Given the description of an element on the screen output the (x, y) to click on. 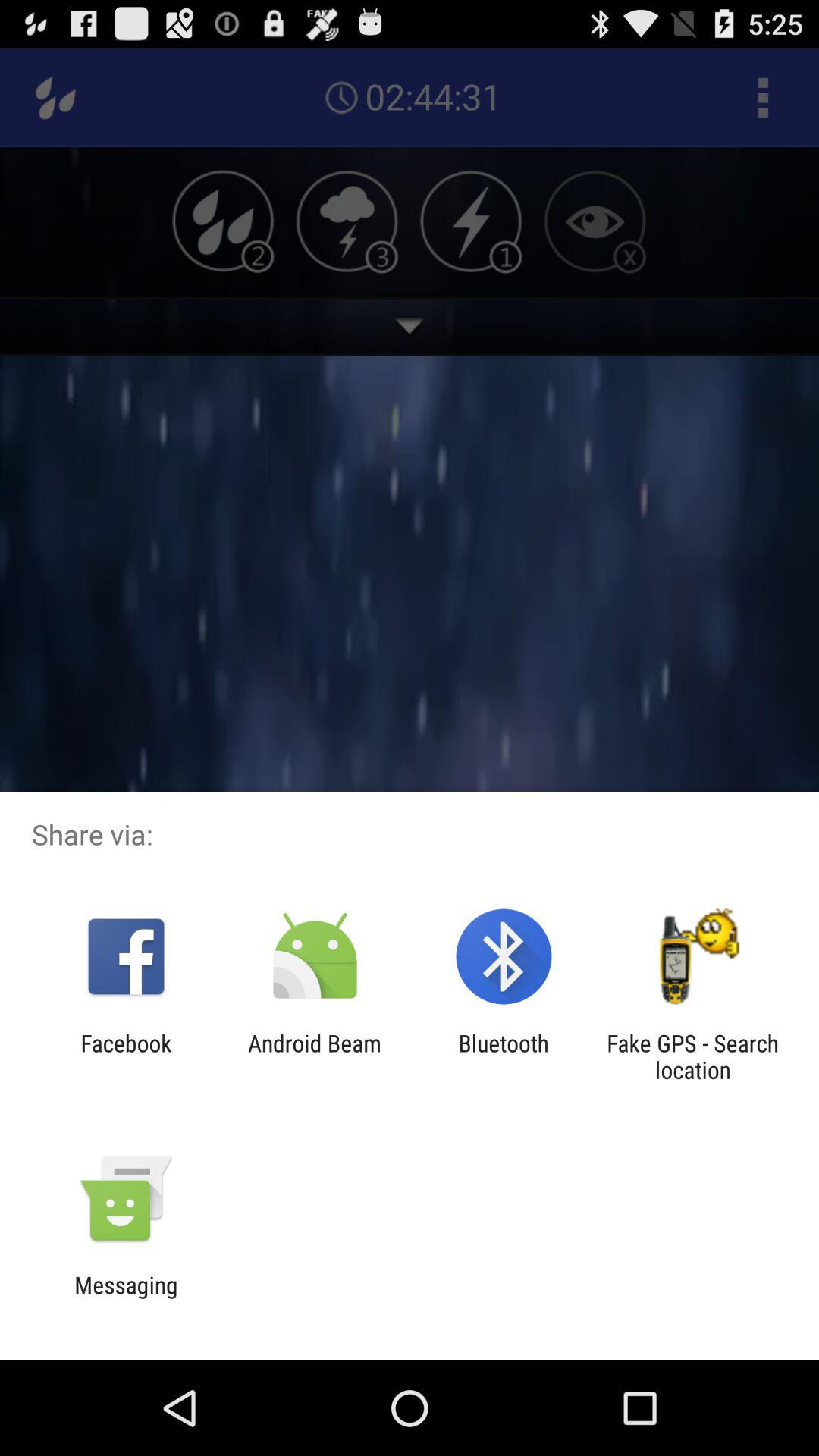
jump to the messaging app (126, 1298)
